Given the description of an element on the screen output the (x, y) to click on. 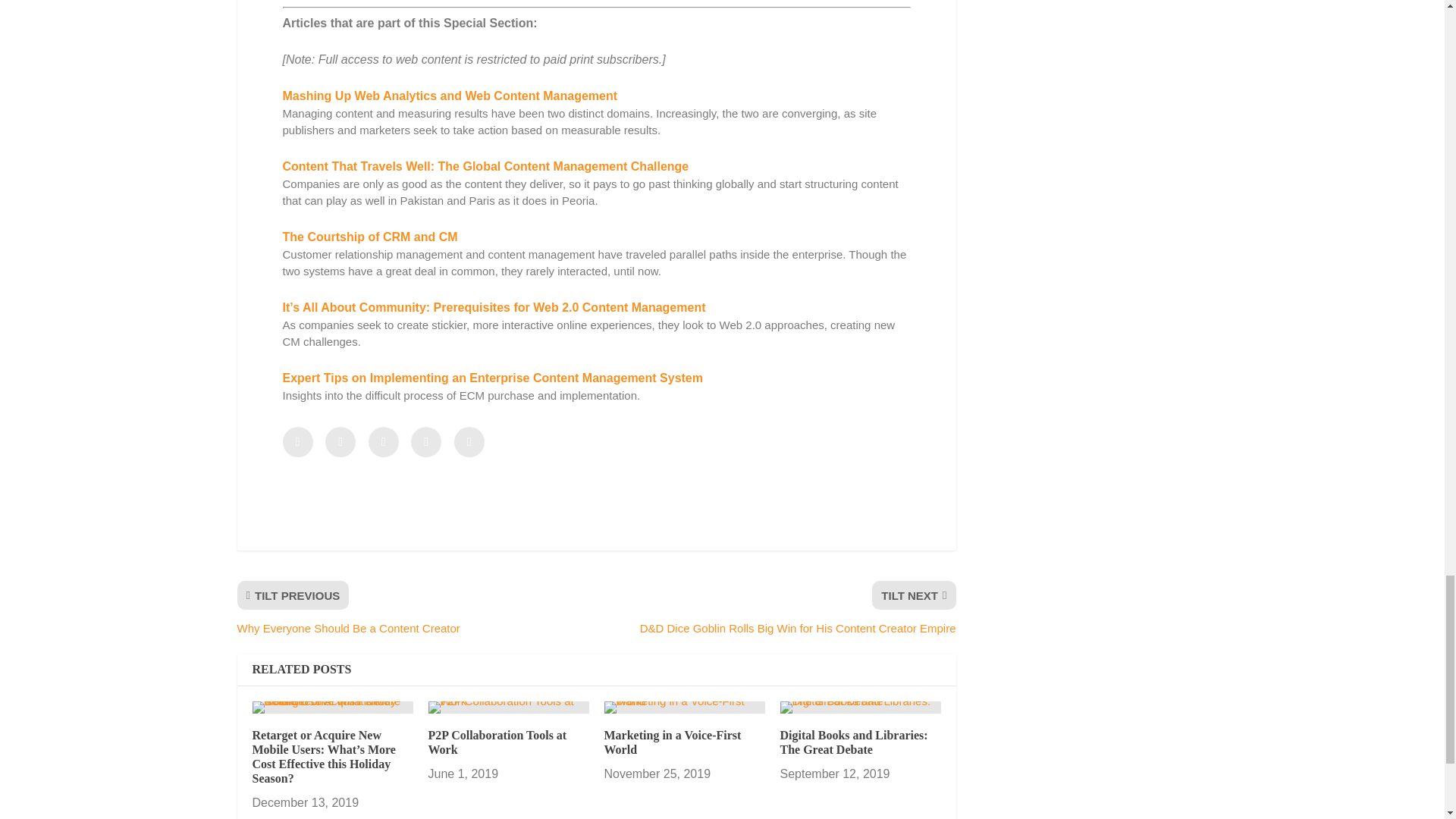
Mashing Up Web Analytics and Web Content Management (449, 95)
The Courtship of CRM and CM (369, 236)
P2P Collaboration Tools at Work (508, 707)
Marketing in a Voice-First World (684, 707)
Digital Books and Libraries: The Great Debate (859, 707)
